Given the description of an element on the screen output the (x, y) to click on. 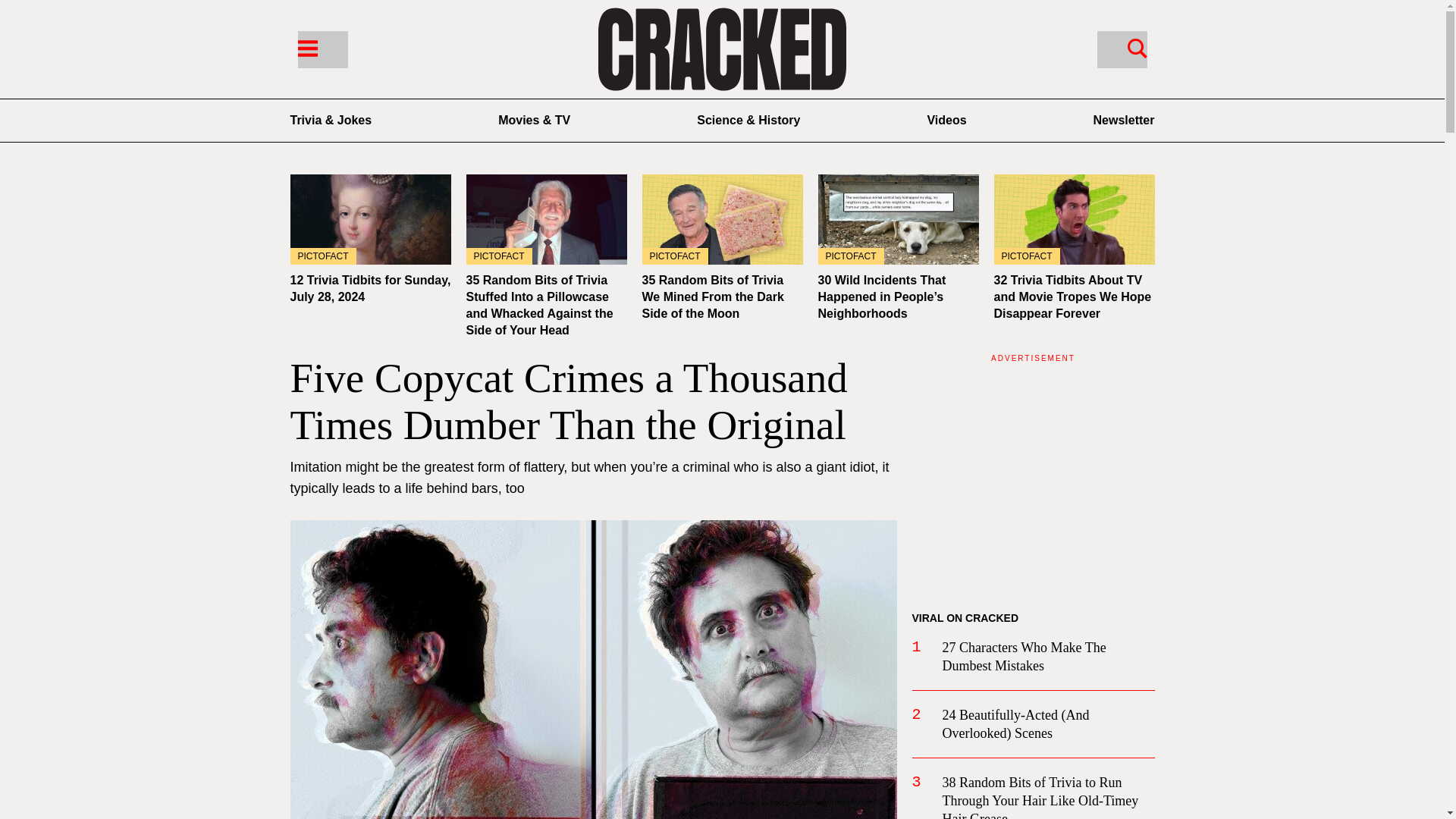
PICTOFACT (1073, 219)
Menu (322, 48)
Newsletter (1123, 119)
Menu (307, 47)
Videos (946, 119)
PICTOFACT (722, 219)
12 Trivia Tidbits for Sunday, July 28, 2024 (369, 219)
PICTOFACT (545, 219)
PICTOFACT (897, 219)
Search (1136, 47)
12 Trivia Tidbits for Sunday, July 28, 2024 (369, 288)
Search (1121, 48)
